Given the description of an element on the screen output the (x, y) to click on. 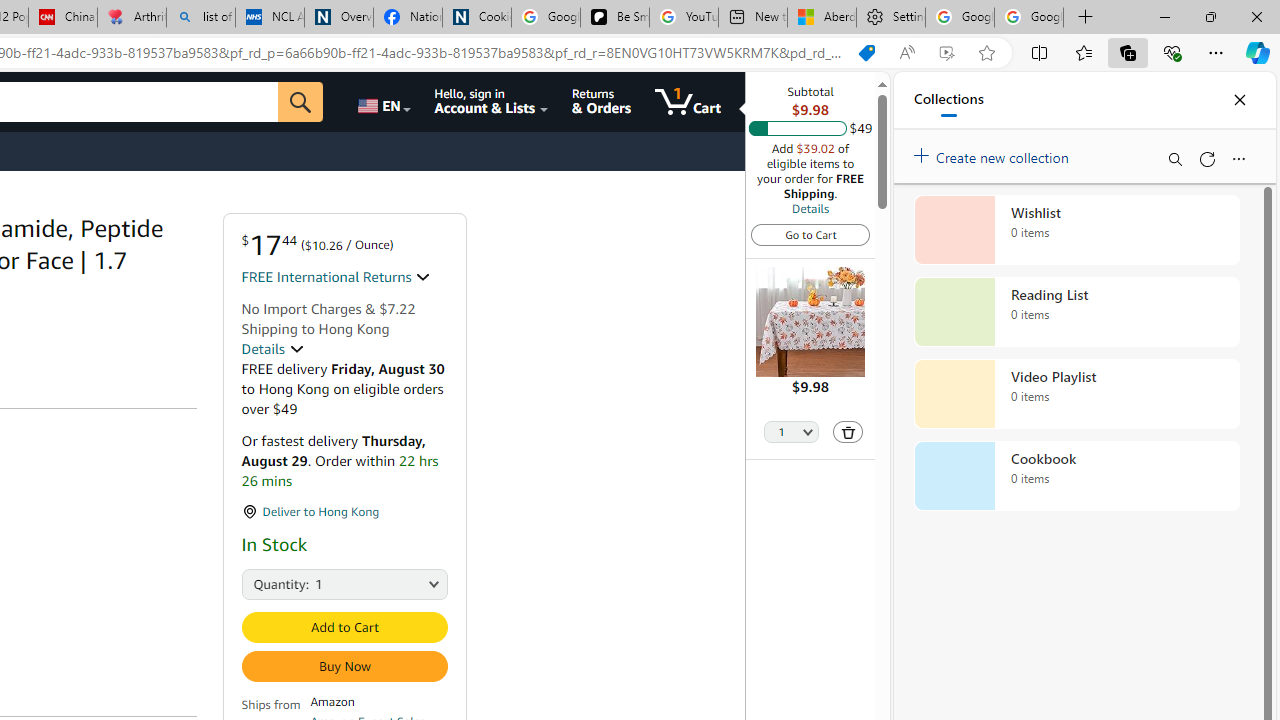
Quantity Selector (792, 433)
Go to Cart (810, 234)
Video Playlist collection, 0 items (1076, 394)
Delete (848, 431)
Go (300, 101)
Choose a language for shopping. (382, 101)
